Given the description of an element on the screen output the (x, y) to click on. 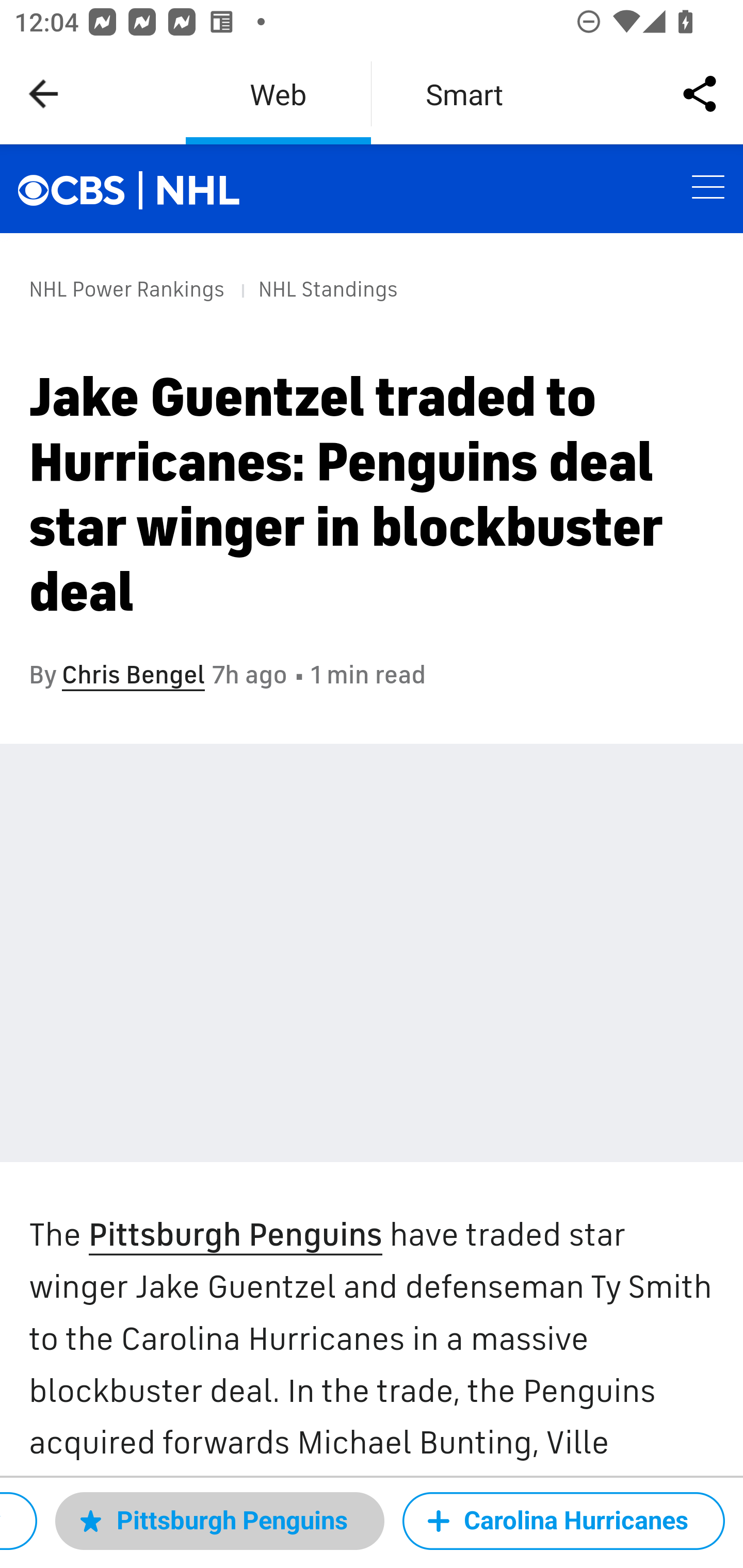
Web (277, 93)
Smart (464, 93)
 (81, 187)
 (199, 189)
NHL Power Rankings (126, 289)
NHL Standings (327, 289)
Chris Bengel (133, 674)
Pittsburgh Penguins (234, 1235)
Pittsburgh Penguins (219, 1520)
Carolina Hurricanes (563, 1520)
